Given the description of an element on the screen output the (x, y) to click on. 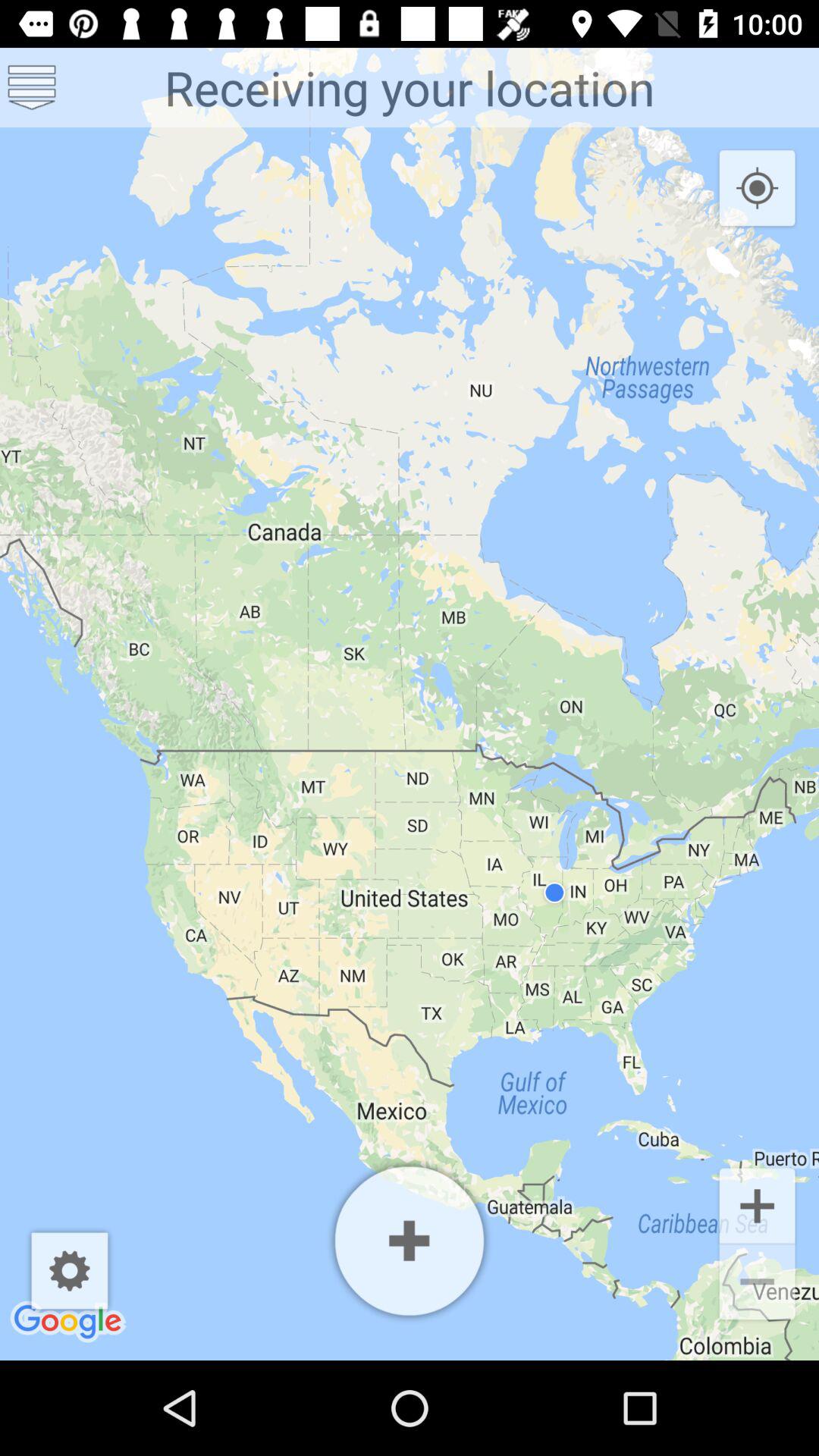
add an item (409, 1240)
